Given the description of an element on the screen output the (x, y) to click on. 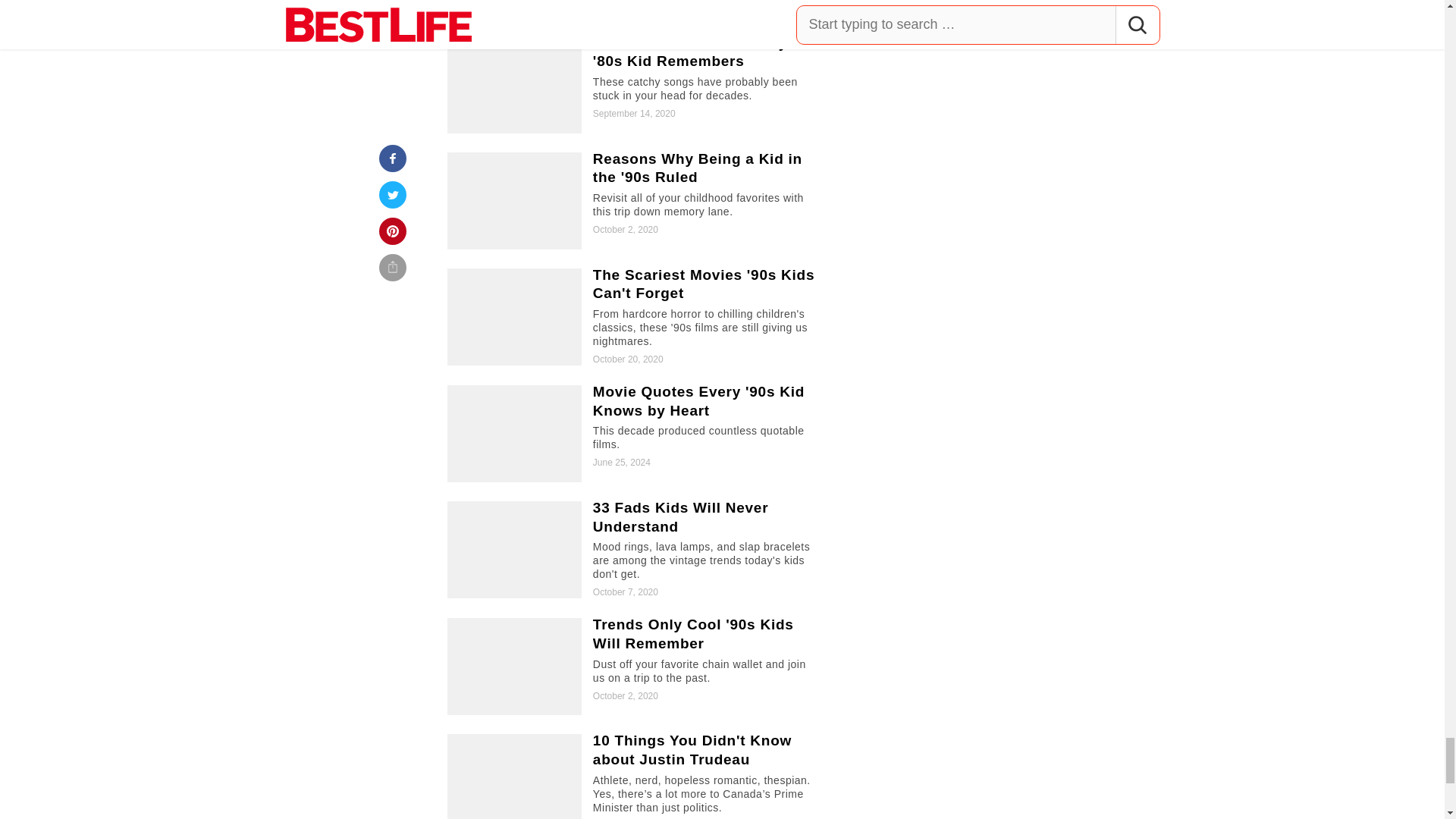
Trends Only Cool '90s Kids Will Remember (635, 666)
20 One-Hit Wonders Every '80s Kid Remembers (635, 84)
Reasons Why Being a Kid in the '90s Ruled (635, 200)
13 Concerts Every '90s Kid Was Dying to See (635, 8)
33 Fads Kids Will Never Understand (635, 549)
Movie Quotes Every '90s Kid Knows by Heart (635, 433)
10 Things You Didn't Know about Justin Trudeau (635, 776)
The Scariest Movies '90s Kids Can't Forget (635, 317)
